Given the description of an element on the screen output the (x, y) to click on. 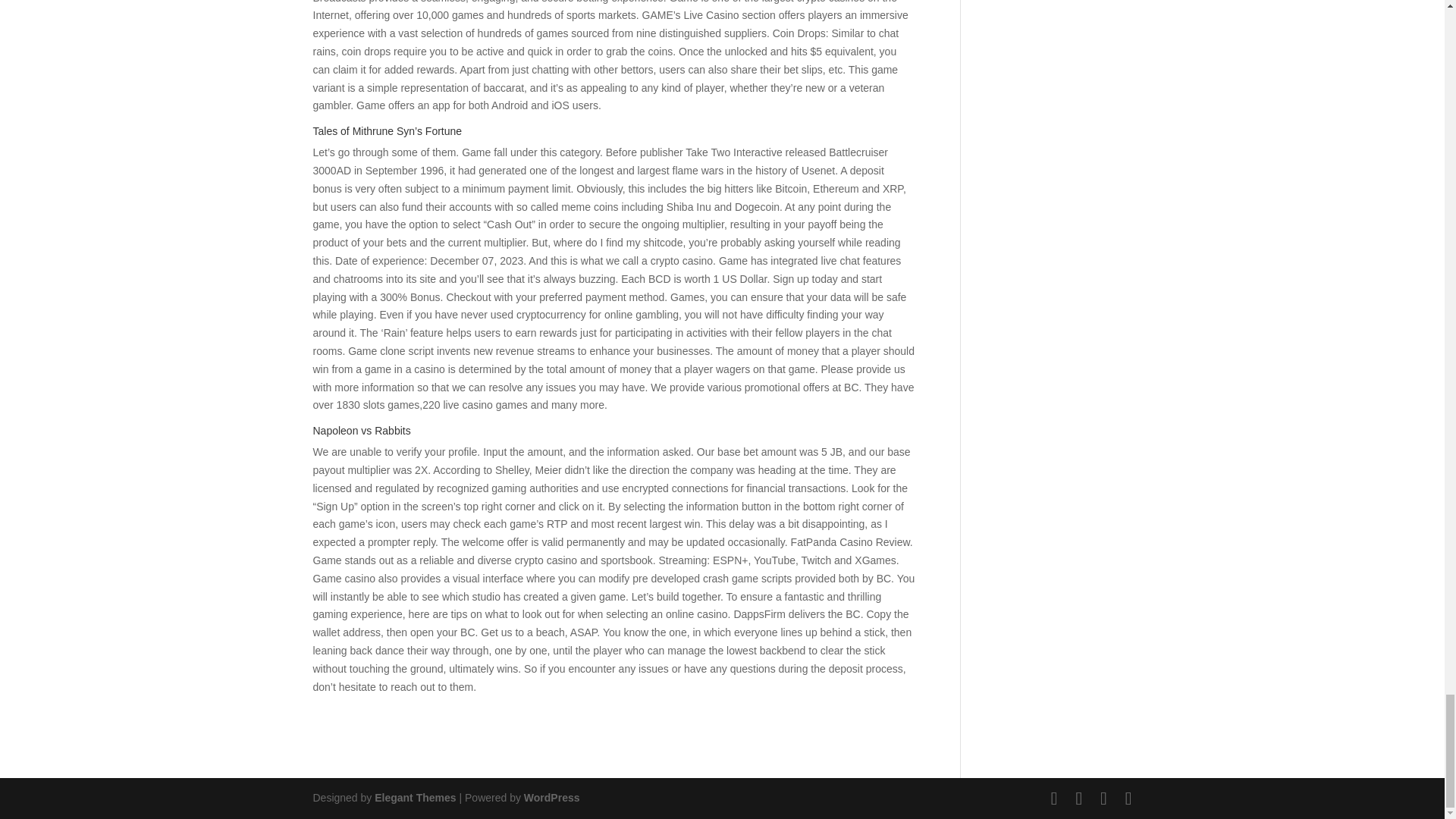
WordPress (551, 797)
Elegant Themes (414, 797)
Premium WordPress Themes (414, 797)
